Given the description of an element on the screen output the (x, y) to click on. 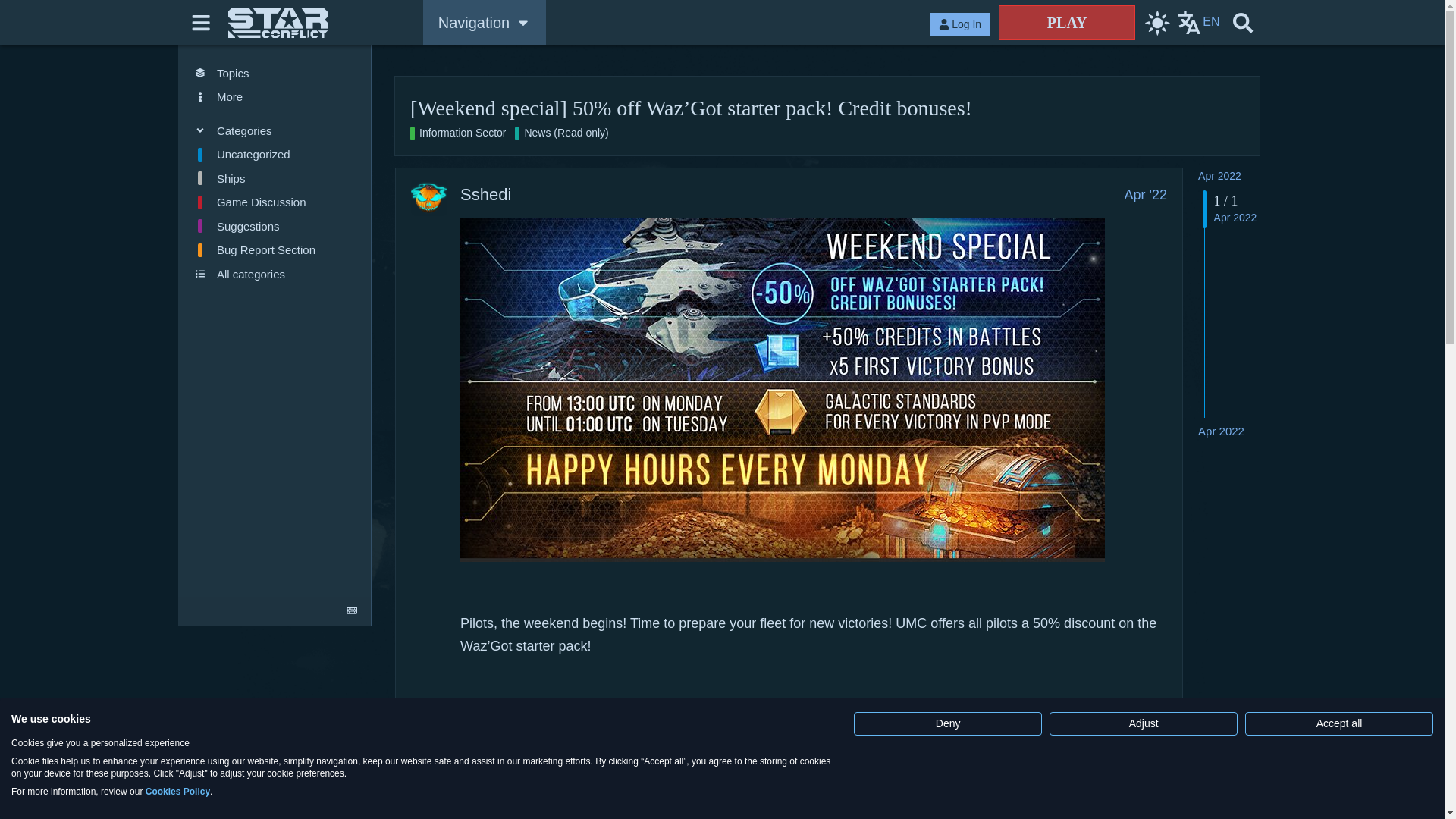
Toggle section (274, 130)
Toggle color scheme (1156, 22)
Keyboard Shortcuts (351, 610)
Play (1066, 22)
Log In (960, 24)
Apr 2022 (1219, 175)
All topics (274, 72)
Search (1242, 22)
All categories (274, 274)
Information Sector (457, 133)
Topics (274, 72)
Hide sidebar (201, 22)
Uncategorized (274, 154)
Suggestion Guideline (274, 225)
Ships (274, 178)
